Given the description of an element on the screen output the (x, y) to click on. 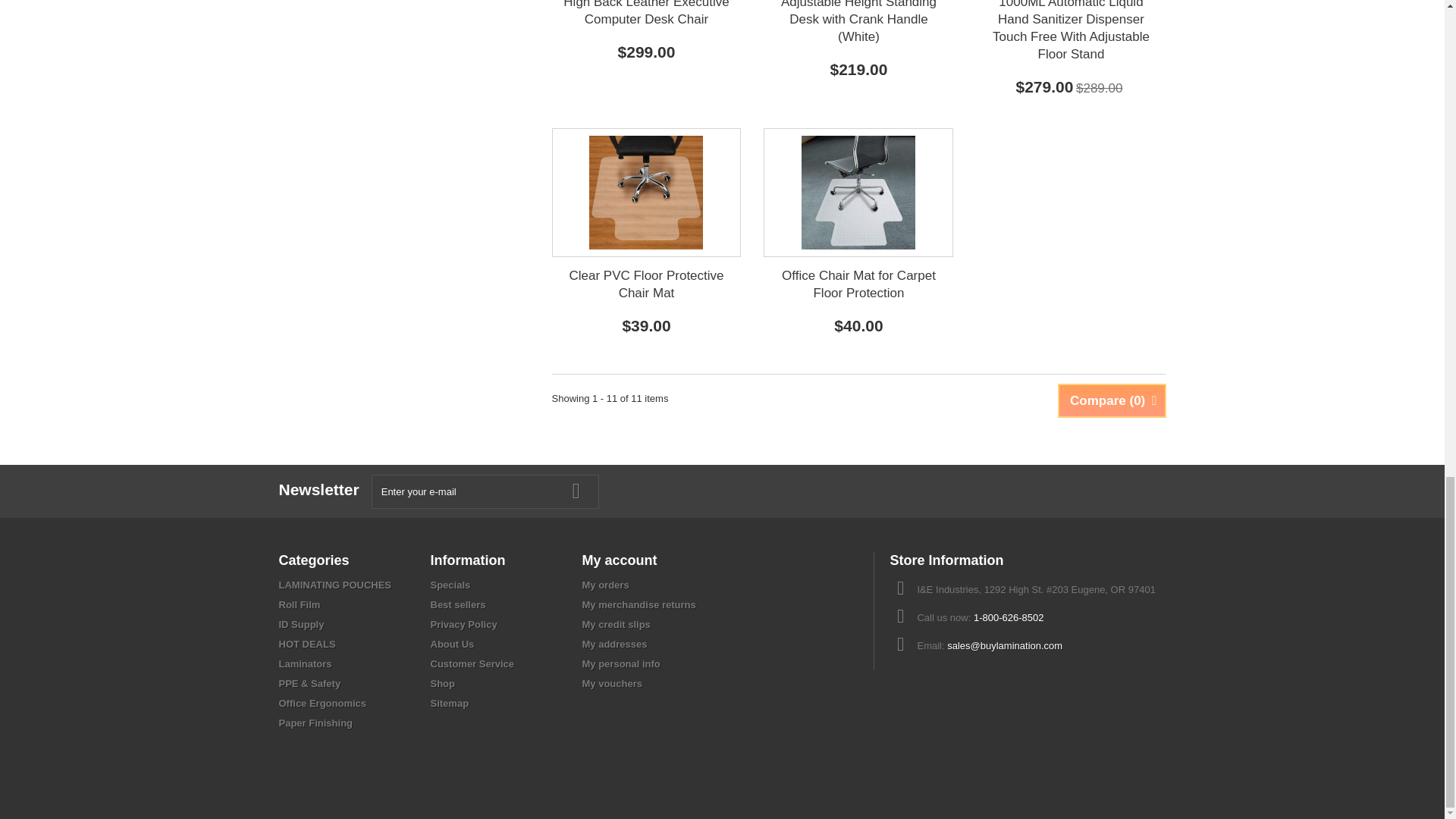
Enter your e-mail (484, 491)
